Given the description of an element on the screen output the (x, y) to click on. 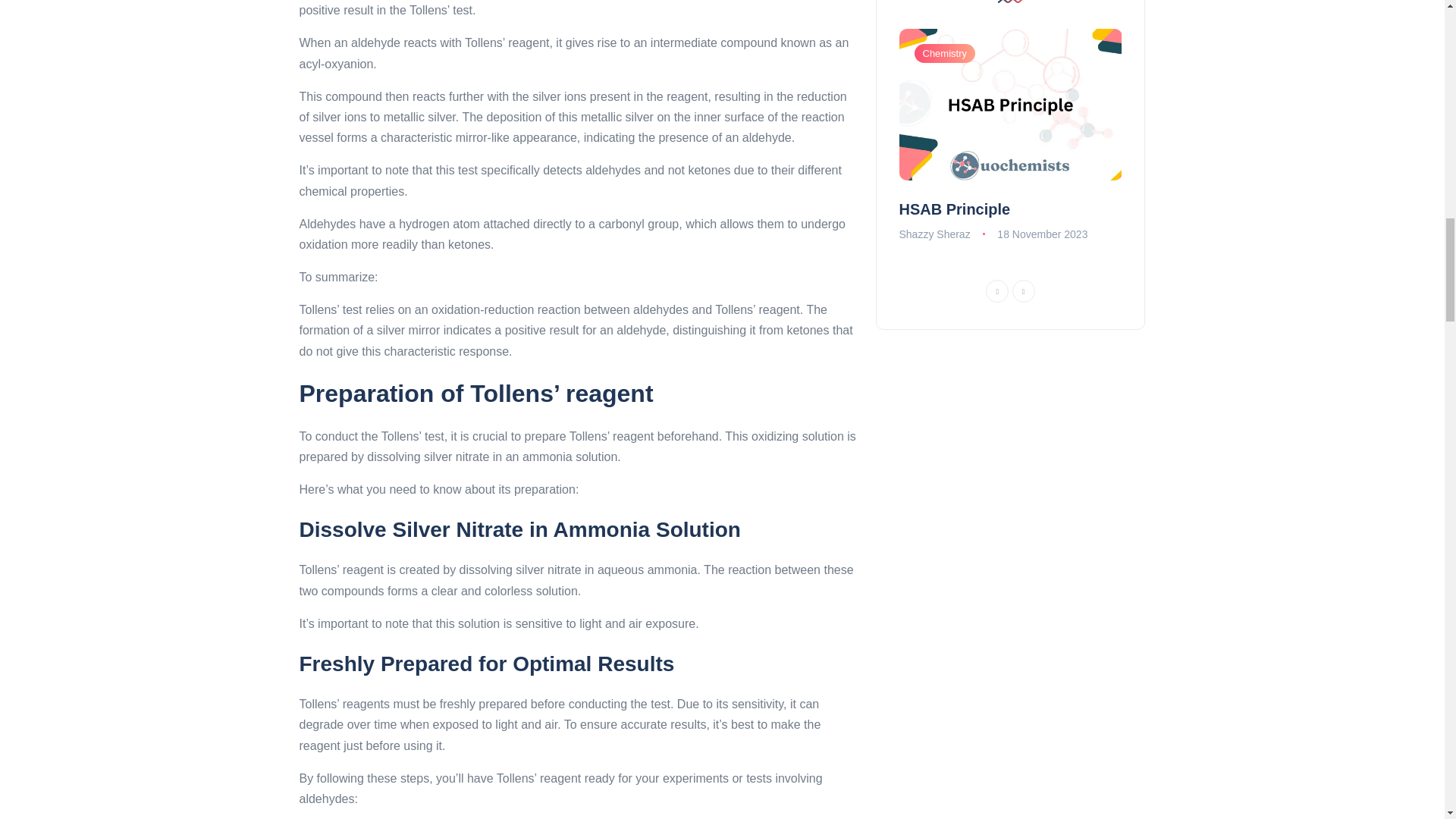
Posts by Shazzy Sheraz (935, 234)
